Given the description of an element on the screen output the (x, y) to click on. 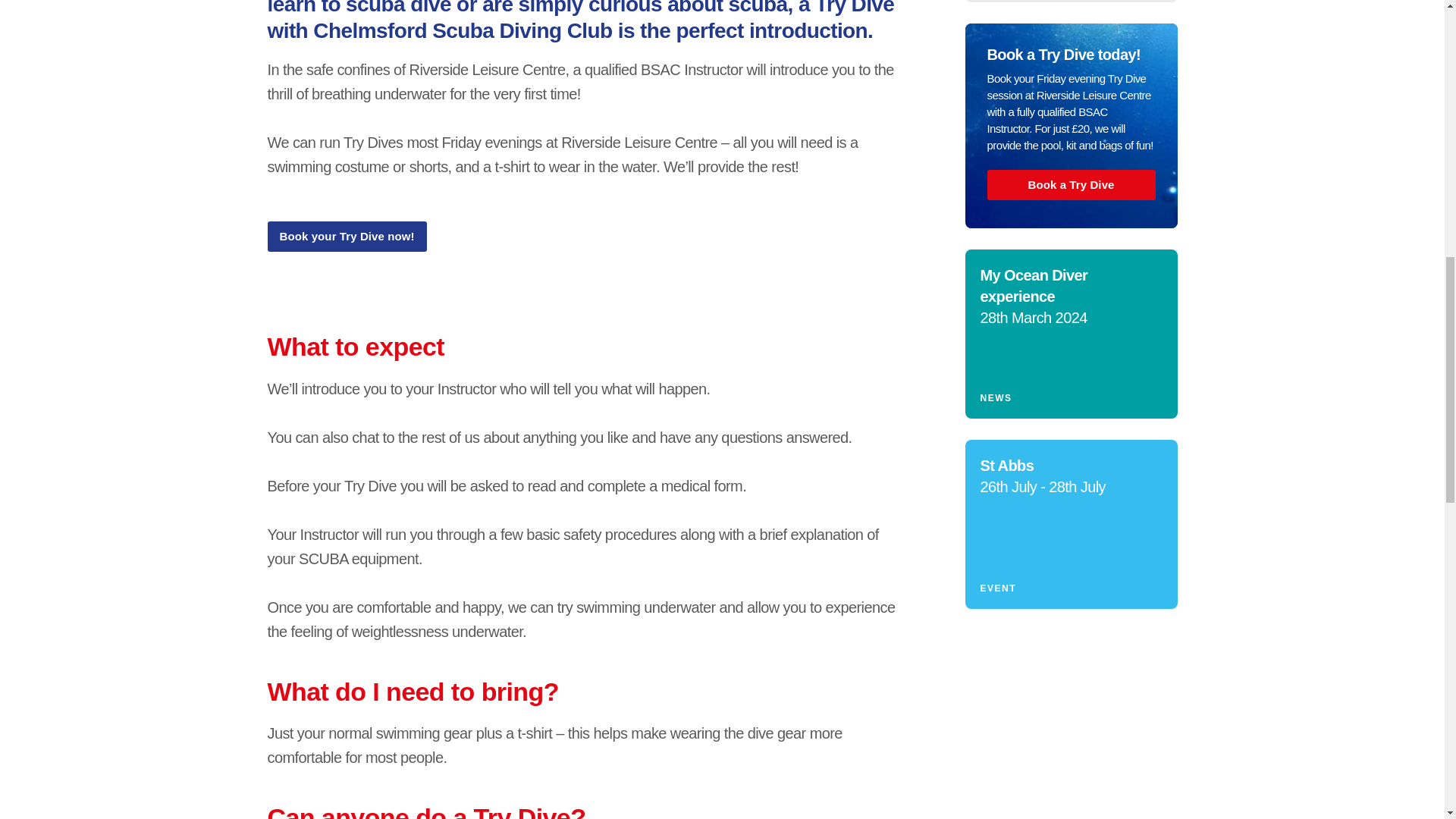
Book your Try Dive now! (346, 236)
